Given the description of an element on the screen output the (x, y) to click on. 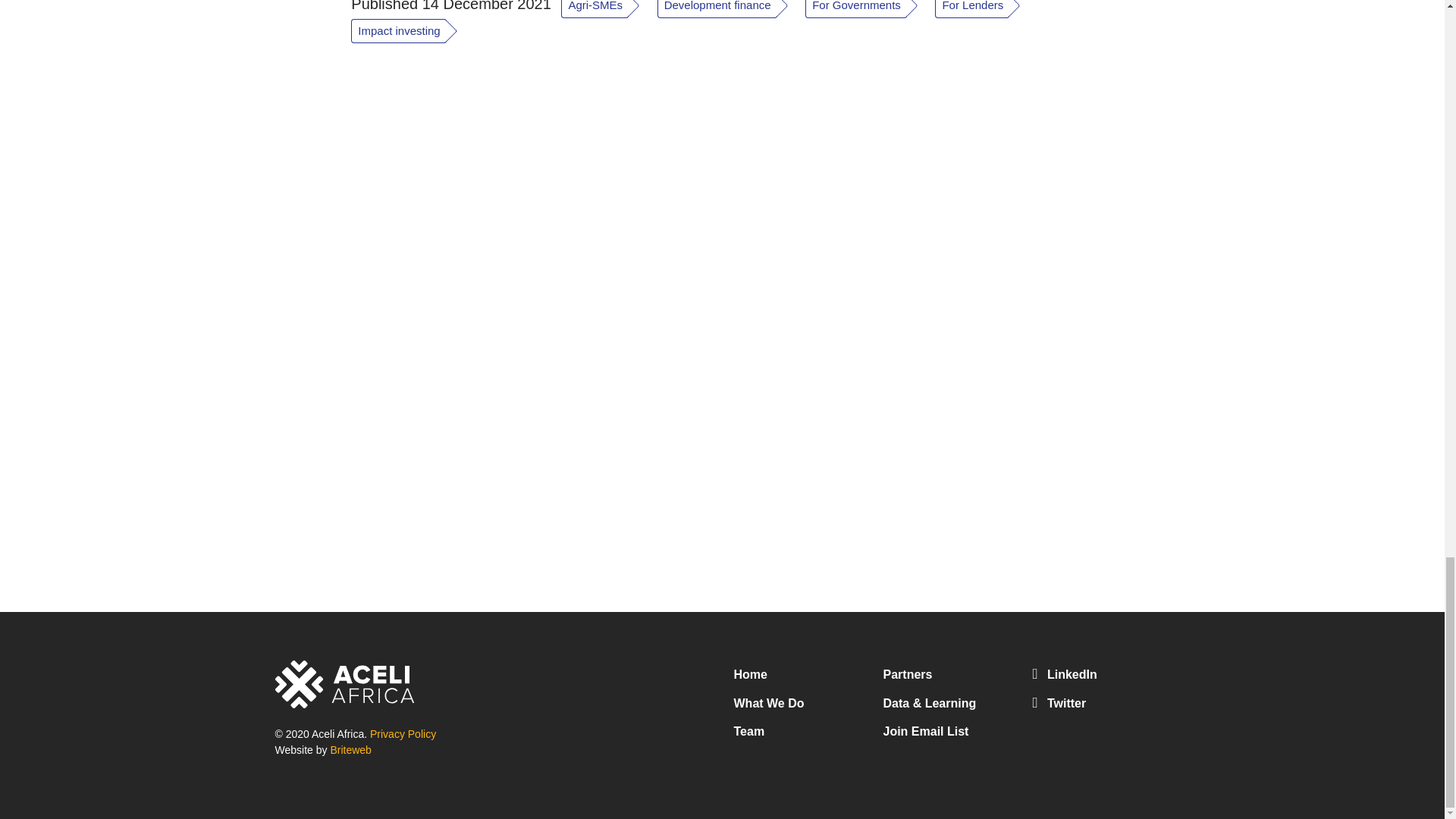
Join Email List (925, 730)
Home (750, 674)
Development finance (731, 8)
Team (749, 730)
Privacy Policy (402, 734)
Twitter (1101, 703)
Agri-SMEs (608, 8)
LinkedIn (1101, 674)
For Lenders (983, 7)
For Governments (869, 7)
What We Do (769, 703)
Partners (906, 674)
Impact investing (410, 31)
Briteweb (350, 749)
